Given the description of an element on the screen output the (x, y) to click on. 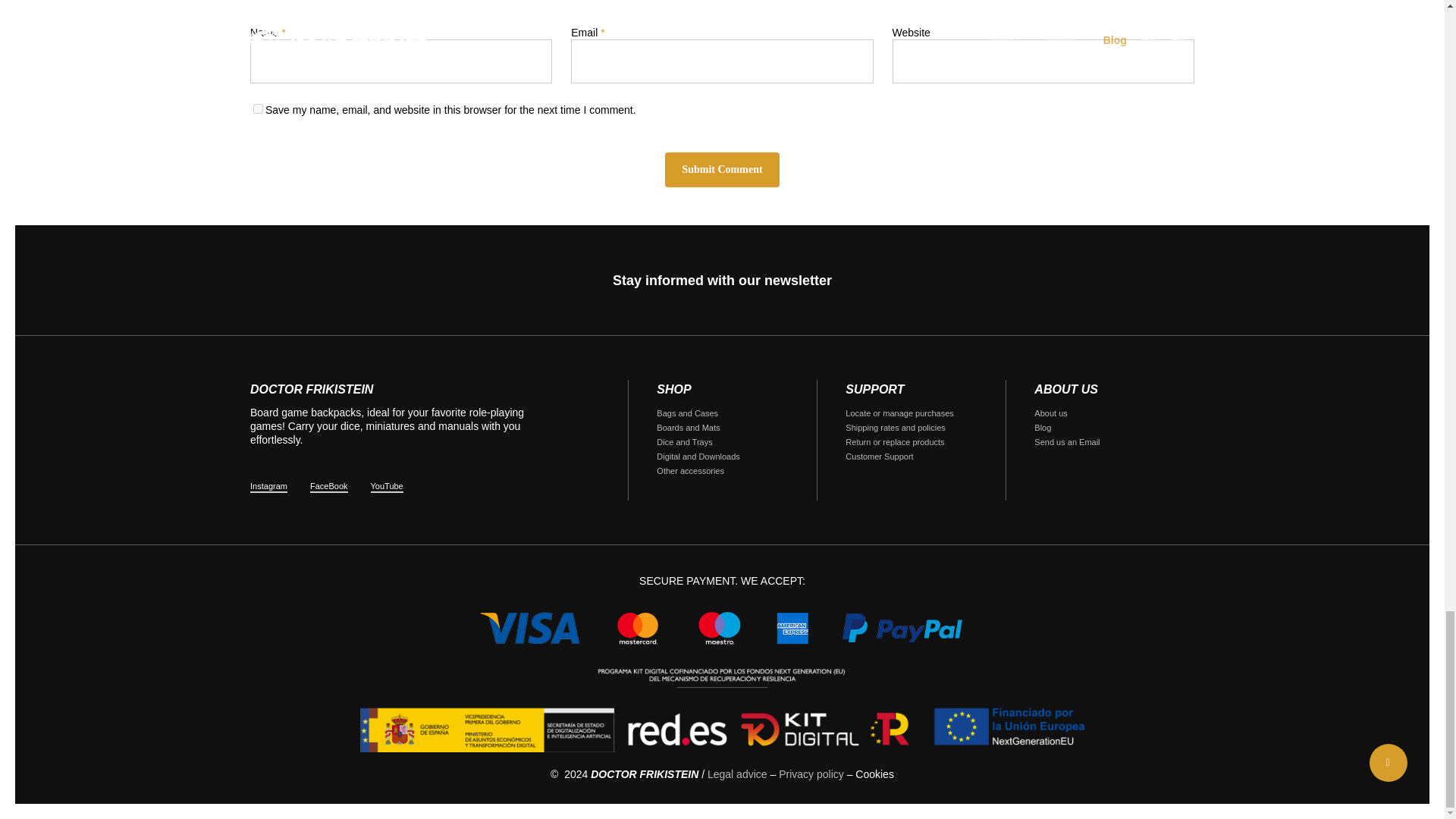
yes (258, 108)
Submit Comment (721, 169)
Submit Comment (721, 169)
